Given the description of an element on the screen output the (x, y) to click on. 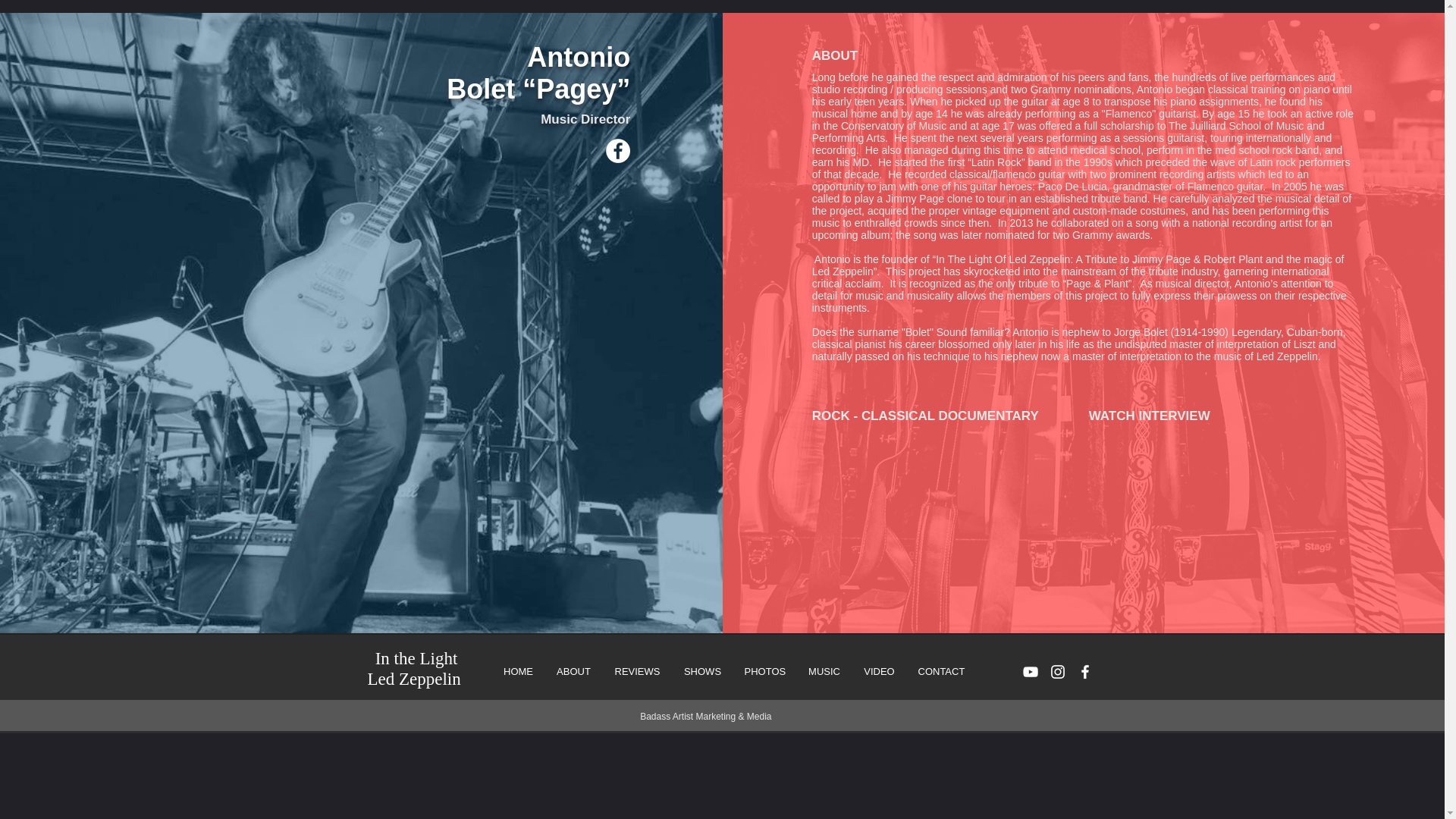
REVIEWS (636, 671)
MUSIC (823, 671)
PHOTOS (764, 671)
VIDEO (879, 671)
SHOWS (701, 671)
CONTACT (941, 671)
HOME (518, 671)
ABOUT (573, 671)
